Given the description of an element on the screen output the (x, y) to click on. 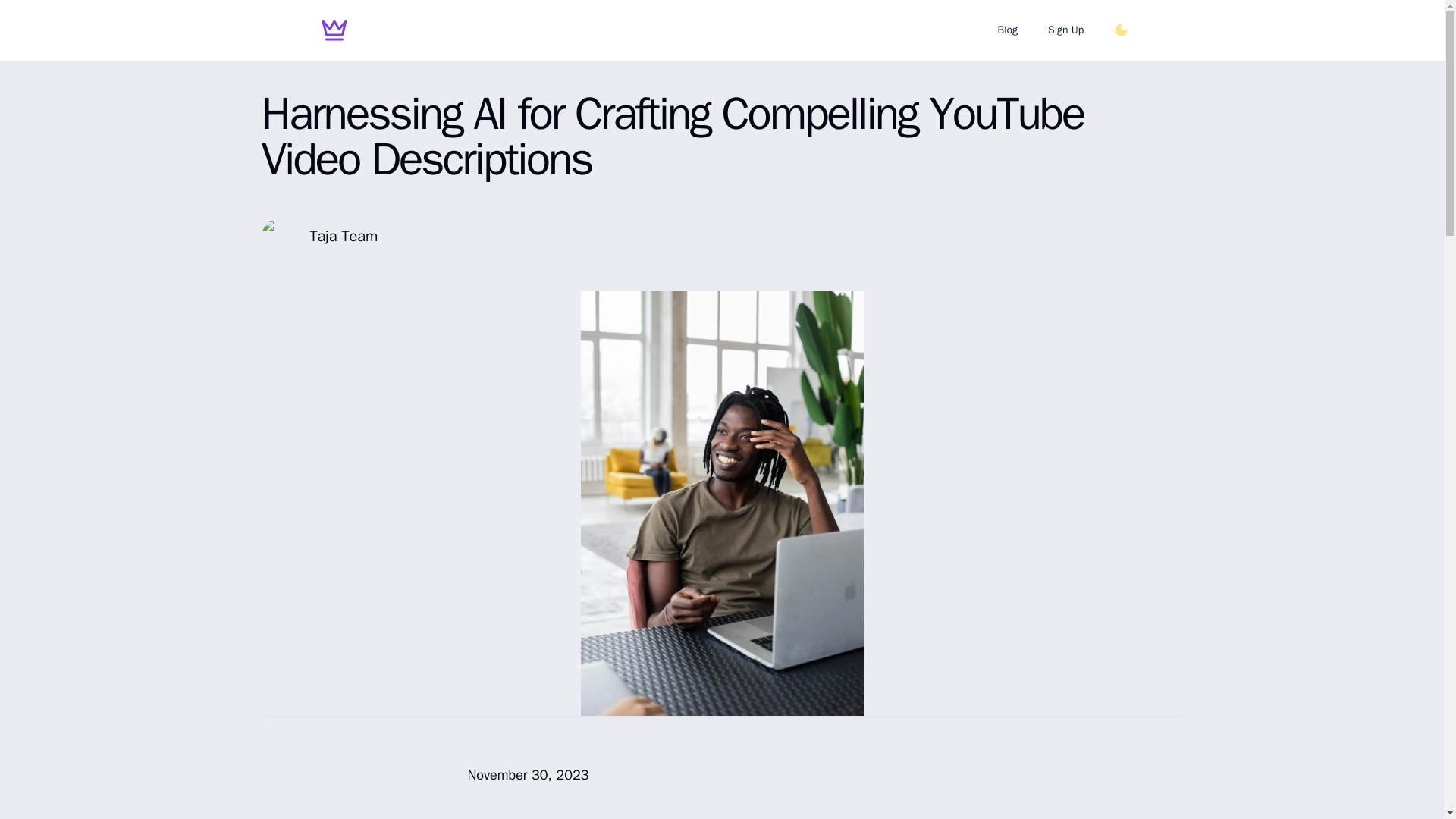
Sign Up (1065, 30)
Toggle theme (1121, 30)
Blog (1007, 30)
